Given the description of an element on the screen output the (x, y) to click on. 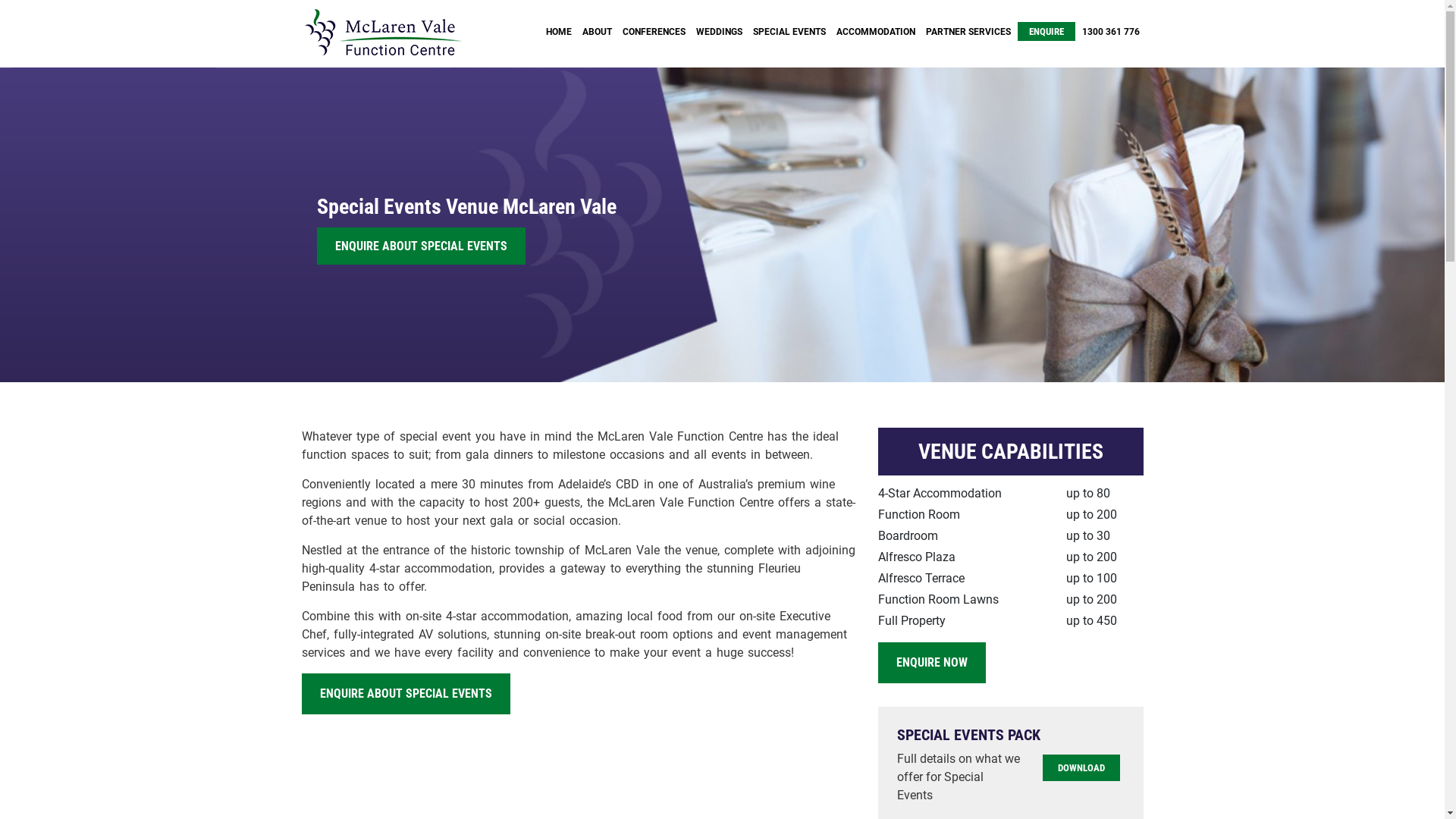
ENQUIRE ABOUT SPECIAL EVENTS Element type: text (420, 245)
ENQUIRE NOW Element type: text (931, 662)
SPECIAL EVENTS Element type: text (789, 31)
1300 361 776 Element type: text (1110, 31)
ABOUT Element type: text (596, 31)
PARTNER SERVICES Element type: text (968, 31)
CONFERENCES Element type: text (653, 31)
HOME Element type: text (557, 31)
WEDDINGS Element type: text (718, 31)
DOWNLOAD Element type: text (1081, 767)
ACCOMMODATION Element type: text (875, 31)
ENQUIRE Element type: text (1046, 30)
ENQUIRE ABOUT SPECIAL EVENTS Element type: text (405, 693)
